Given the description of an element on the screen output the (x, y) to click on. 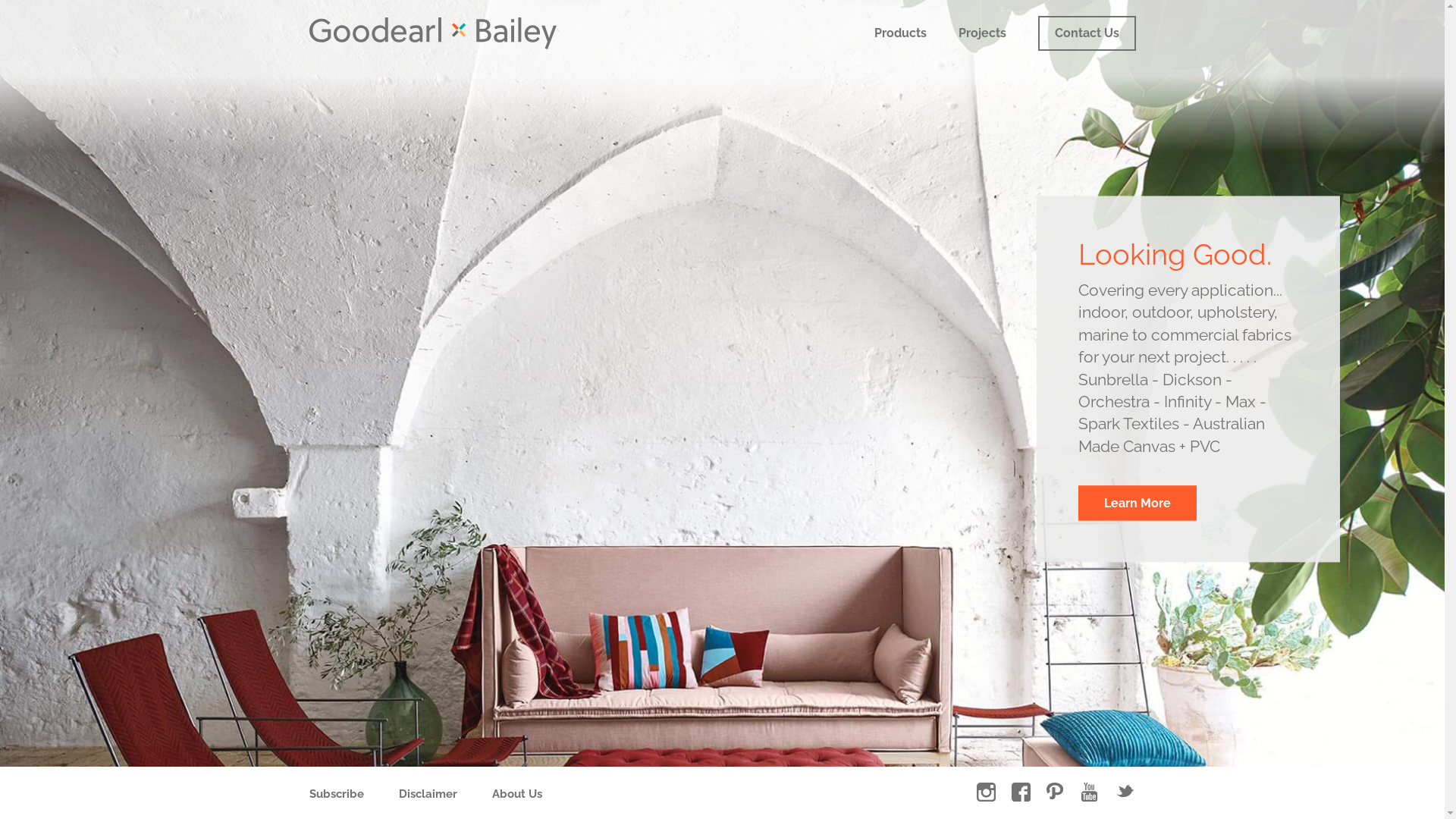
Projects Element type: text (982, 32)
Disclaimer Element type: text (427, 793)
Products Element type: text (899, 32)
Learn More Element type: text (1137, 503)
Subscribe Element type: text (336, 793)
Contact Us Element type: text (1086, 32)
About Us Element type: text (516, 793)
